Given the description of an element on the screen output the (x, y) to click on. 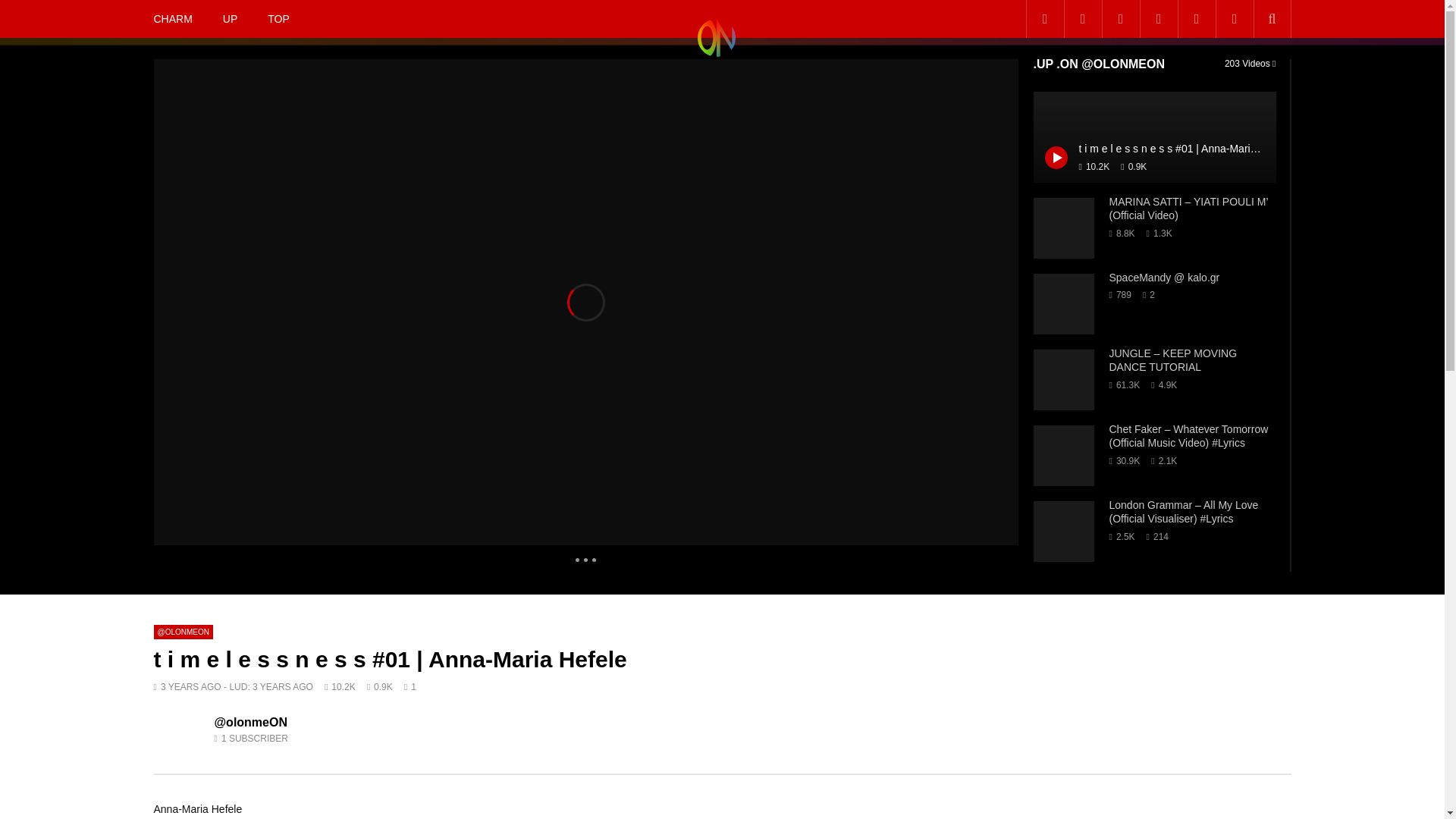
TOP (277, 18)
Tumblr (1119, 18)
Youtube (1195, 18)
Twitter (1081, 18)
UP (229, 18)
203 Videos (1250, 63)
CHARM (172, 18)
Search (1252, 52)
Instagram (1233, 18)
Facebook (1043, 18)
Search (1271, 18)
Pinterest (1157, 18)
